Given the description of an element on the screen output the (x, y) to click on. 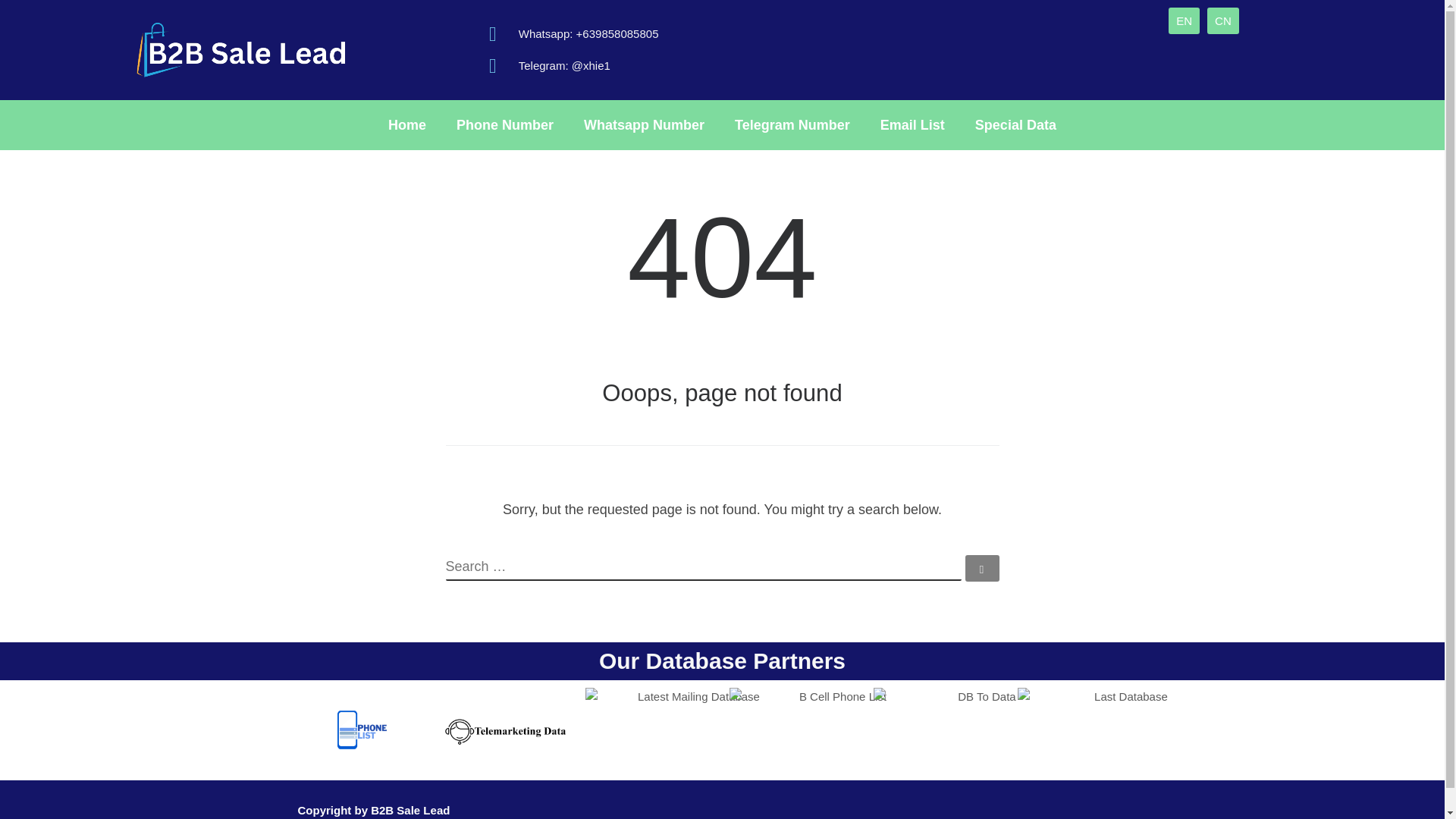
EN (1184, 20)
Phone Number (505, 124)
Whatsapp Number (644, 124)
Special Data (1015, 124)
Telegram Number (791, 124)
Home (406, 124)
B2B Sale Lead (410, 809)
Email List (911, 124)
CN (1223, 20)
